Given the description of an element on the screen output the (x, y) to click on. 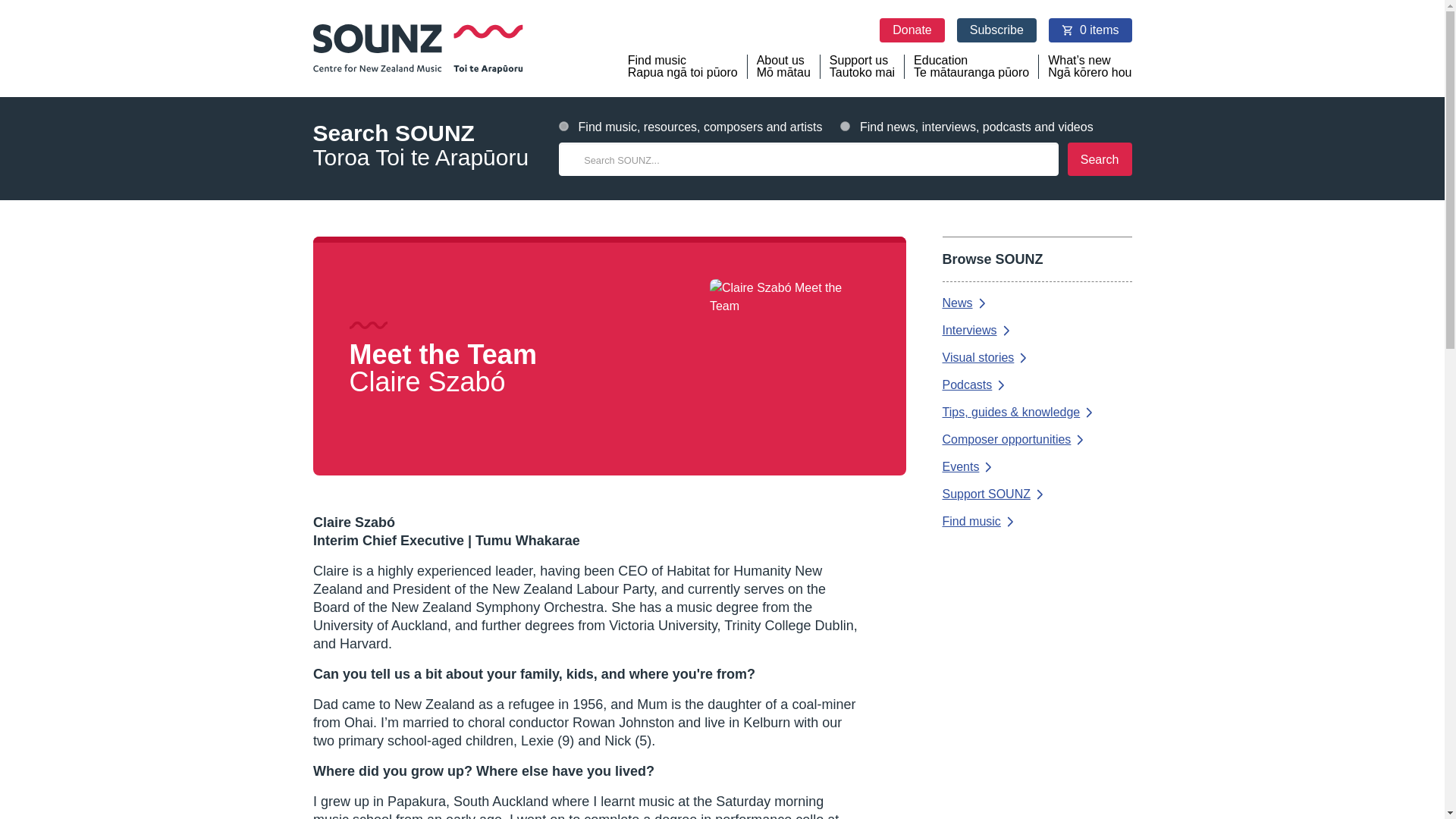
content (845, 126)
Search (862, 66)
0 items (1099, 159)
News (1090, 30)
Events (1036, 302)
Interviews (1036, 466)
Subscribe (1036, 329)
Visual stories (996, 30)
catalogue (1036, 357)
Support SOUNZ (564, 126)
Donate (1036, 493)
Find music (911, 30)
Composer opportunities (1036, 521)
Podcasts (1036, 439)
